Given the description of an element on the screen output the (x, y) to click on. 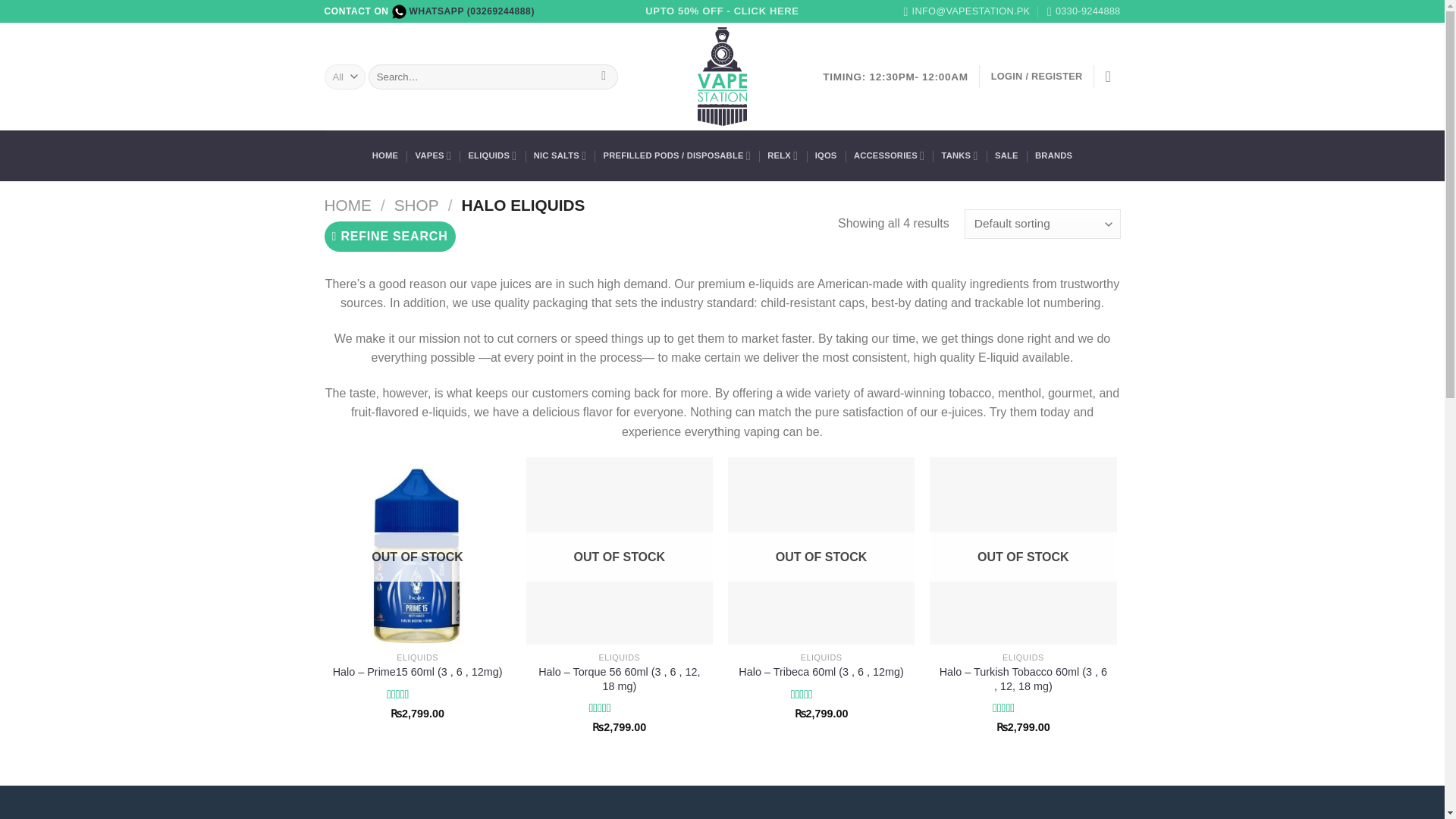
0330-9244888 (1083, 11)
Search (603, 77)
ELIQUIDS (491, 155)
Login (1037, 76)
0330-9244888 (1083, 11)
